Given the description of an element on the screen output the (x, y) to click on. 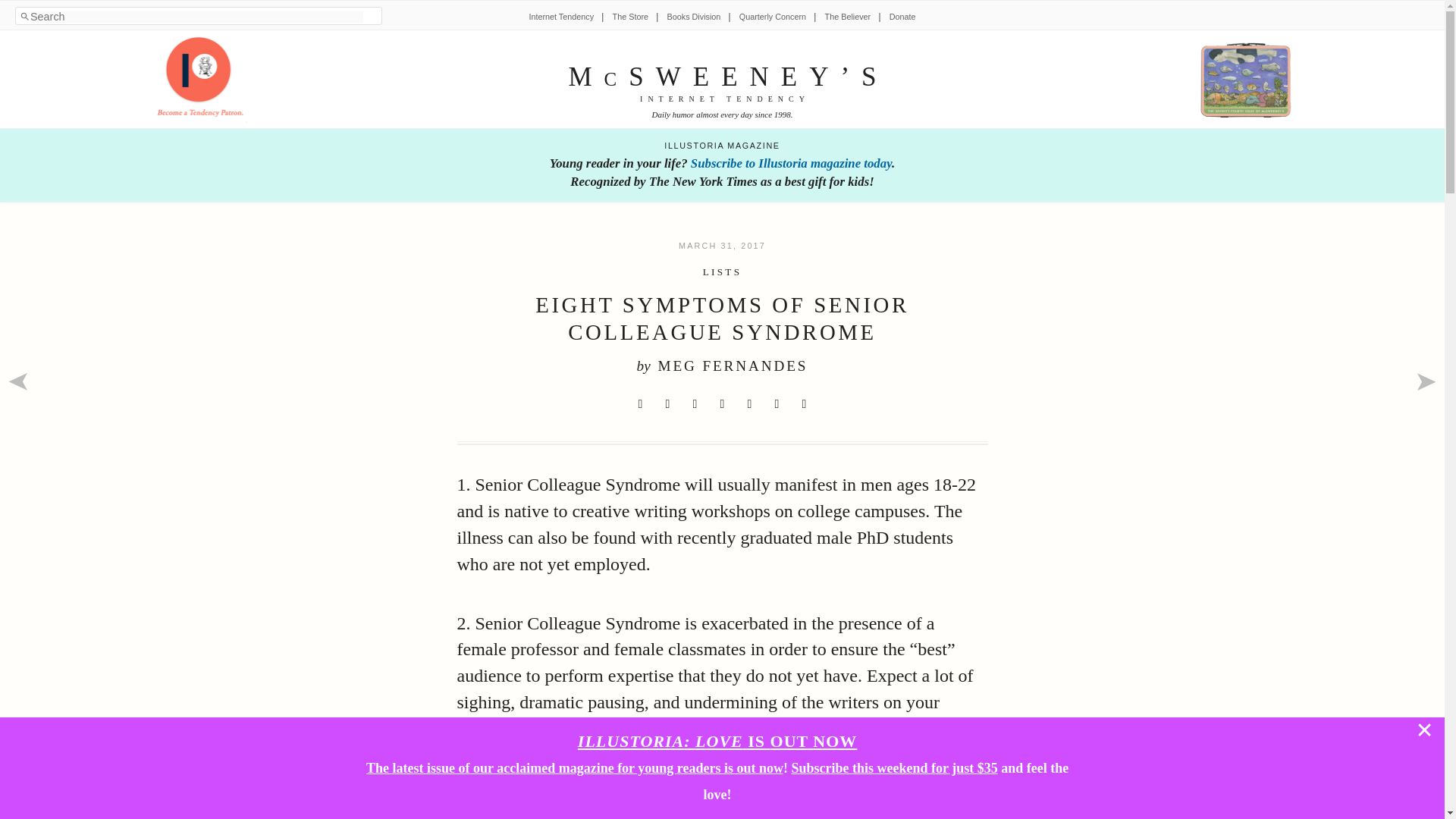
Books Division (693, 16)
Donate (902, 16)
Copy to Clipboard (804, 404)
Share to Threads (749, 404)
The Believer (847, 16)
Share to Reddit (695, 404)
LISTS (722, 271)
Share to Facebook (667, 404)
MEG FERNANDES (733, 365)
The Store (629, 16)
